Given the description of an element on the screen output the (x, y) to click on. 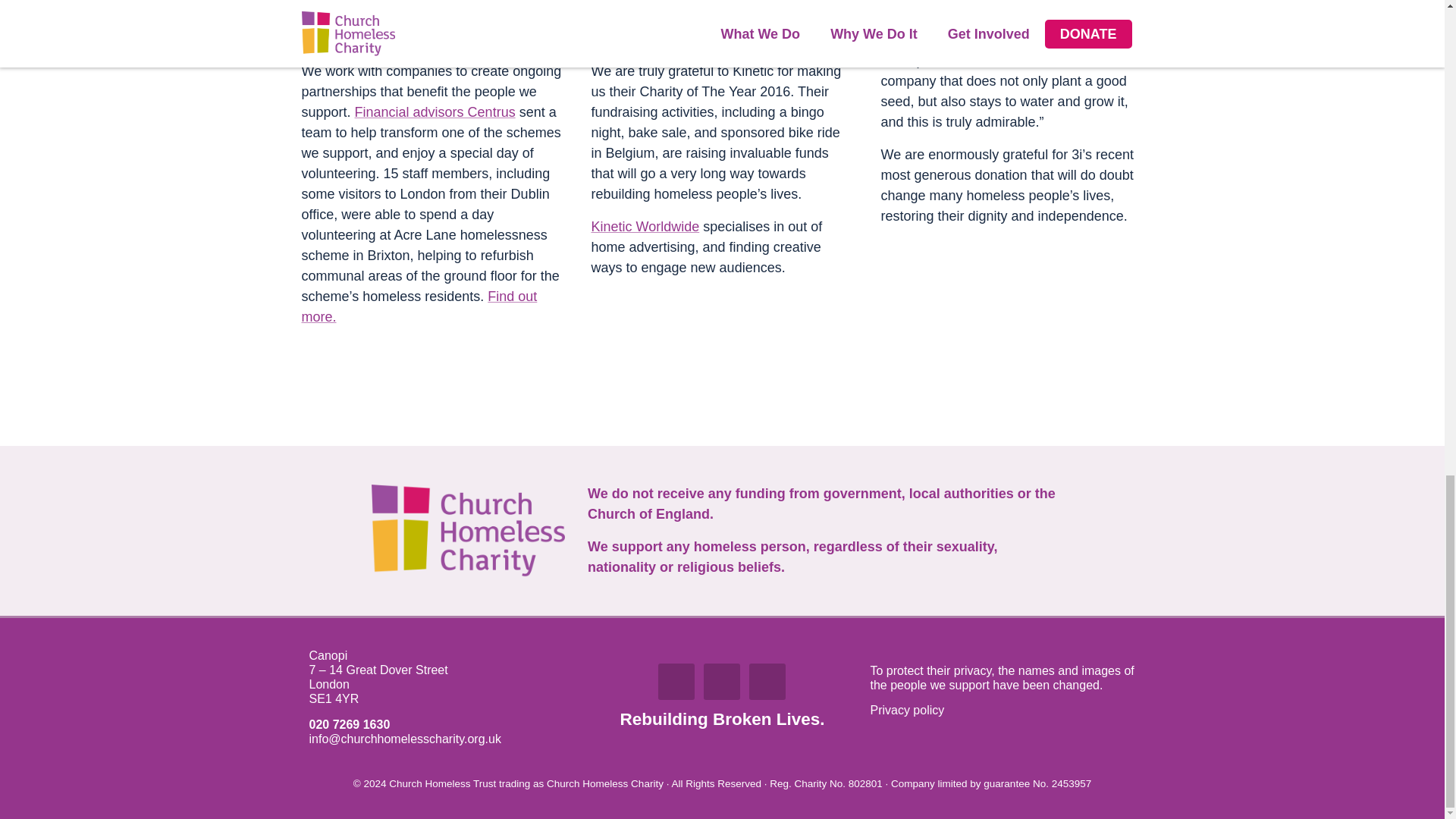
Find out more. (419, 306)
Kinetic Worldwide (645, 226)
Financial advisors Centrus (435, 111)
